Given the description of an element on the screen output the (x, y) to click on. 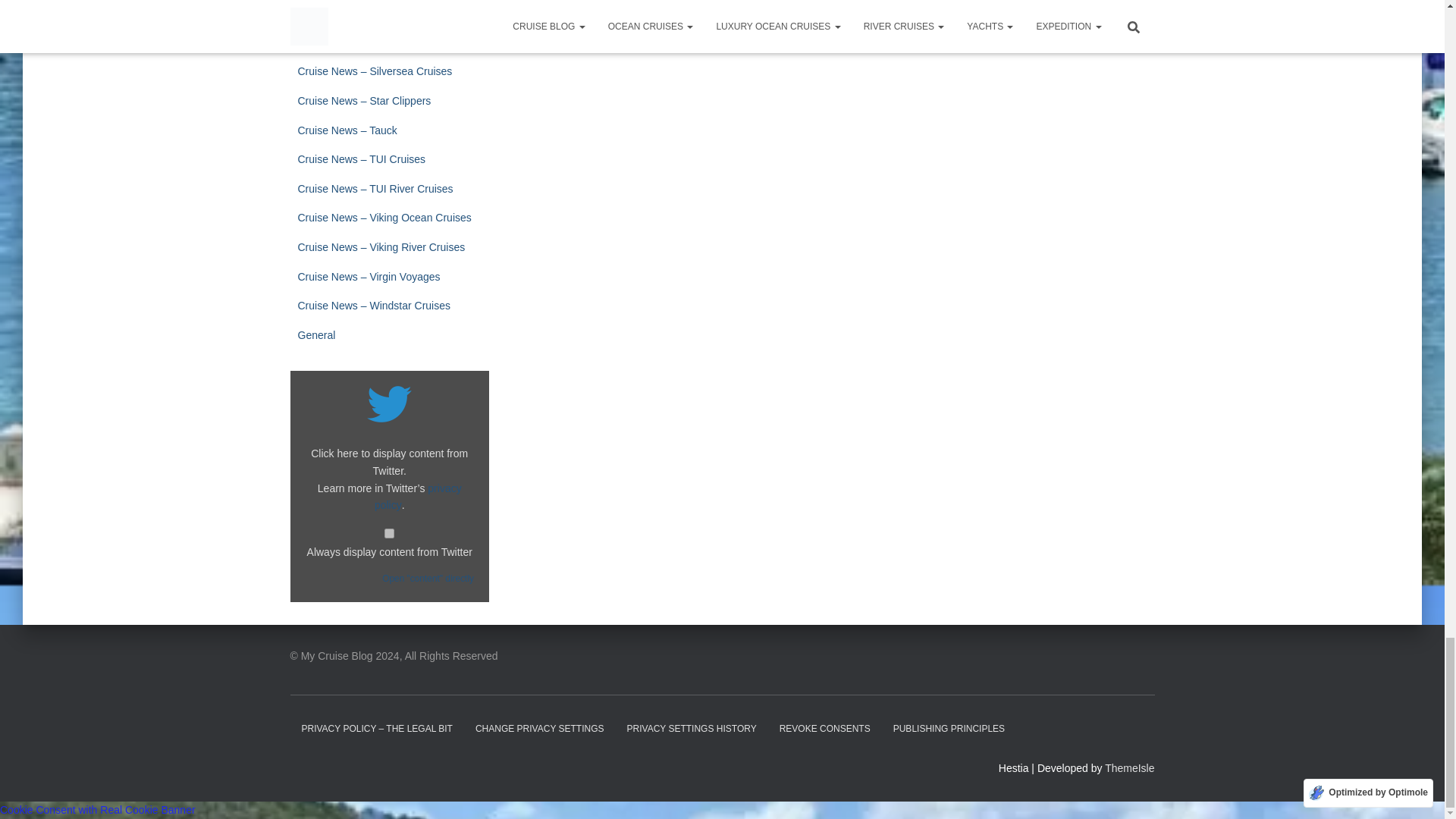
1 (389, 533)
